Given the description of an element on the screen output the (x, y) to click on. 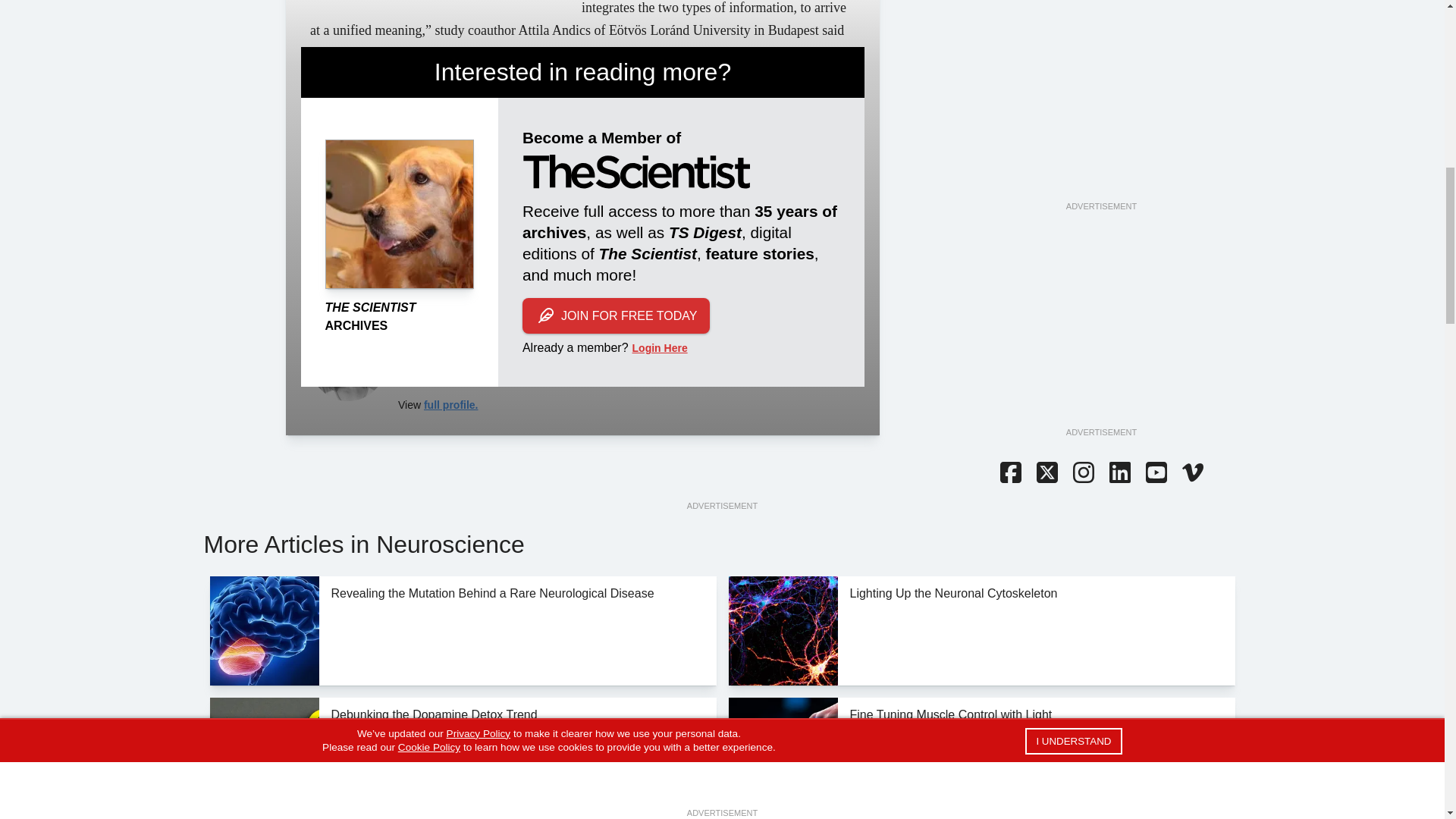
3rd party ad content (1100, 330)
Jef Akst (347, 363)
3rd party ad content (1100, 104)
